Given the description of an element on the screen output the (x, y) to click on. 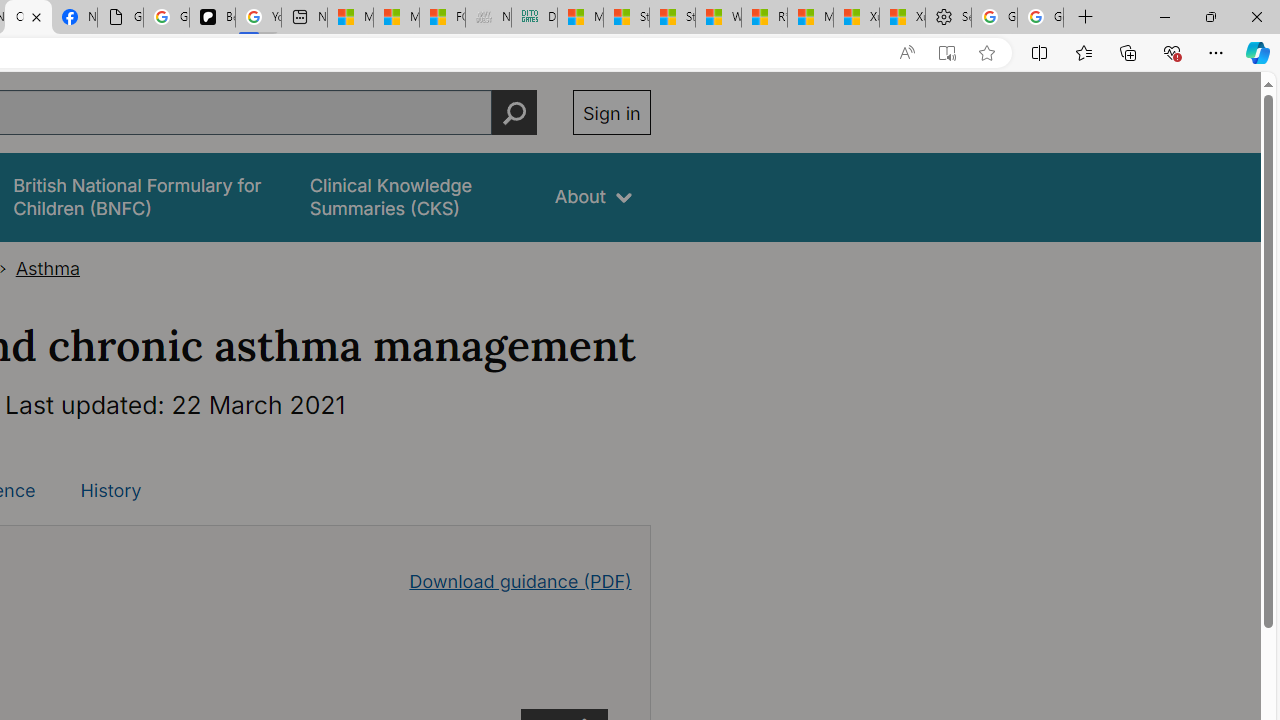
Download guidance (PDF) (520, 580)
About (593, 196)
Asthma (47, 268)
History (110, 490)
Be Smart | creating Science videos | Patreon (212, 17)
